Given the description of an element on the screen output the (x, y) to click on. 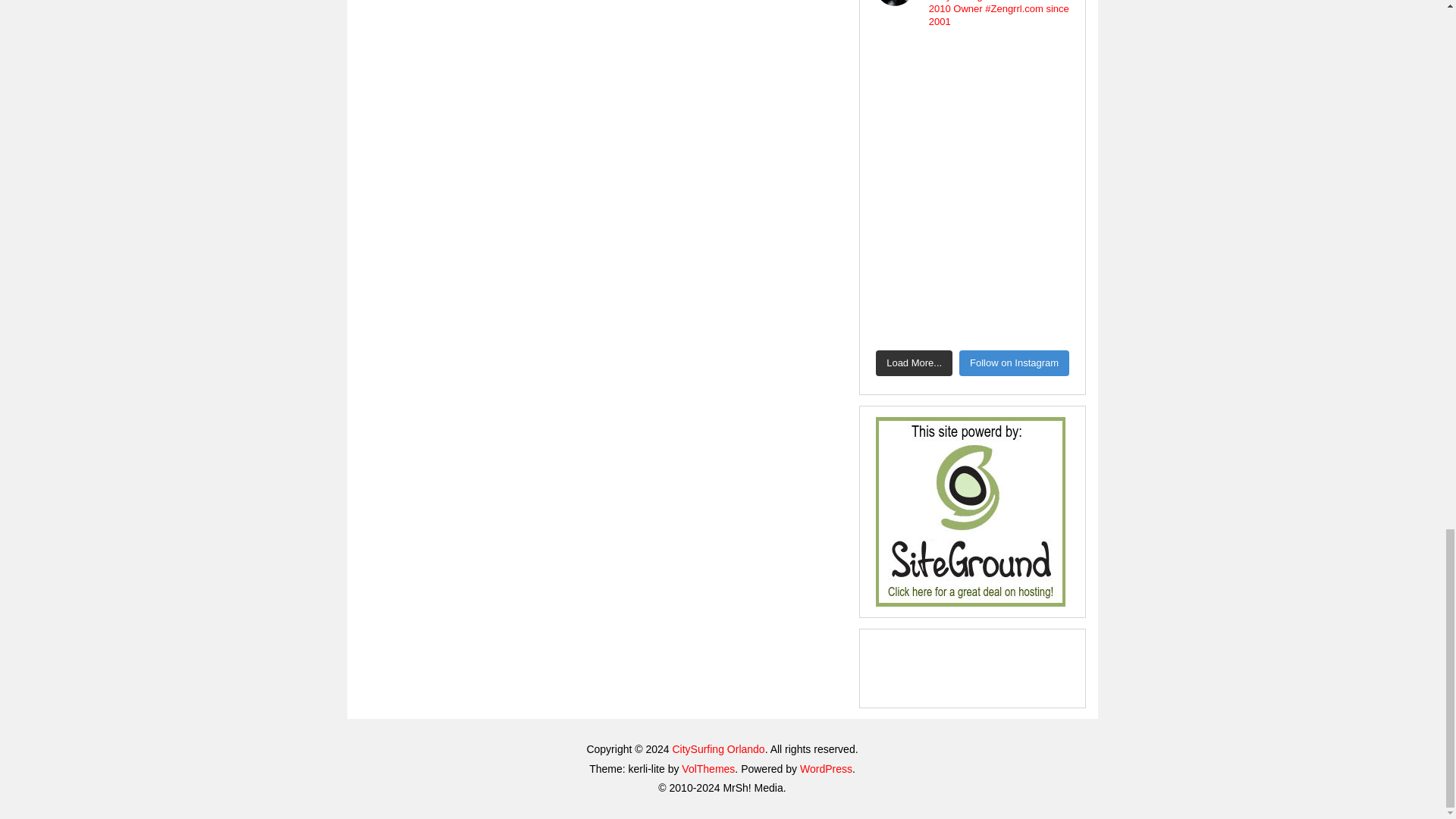
CitySurfing Orlando (717, 748)
WordPress (825, 768)
VolThemes (708, 768)
